Given the description of an element on the screen output the (x, y) to click on. 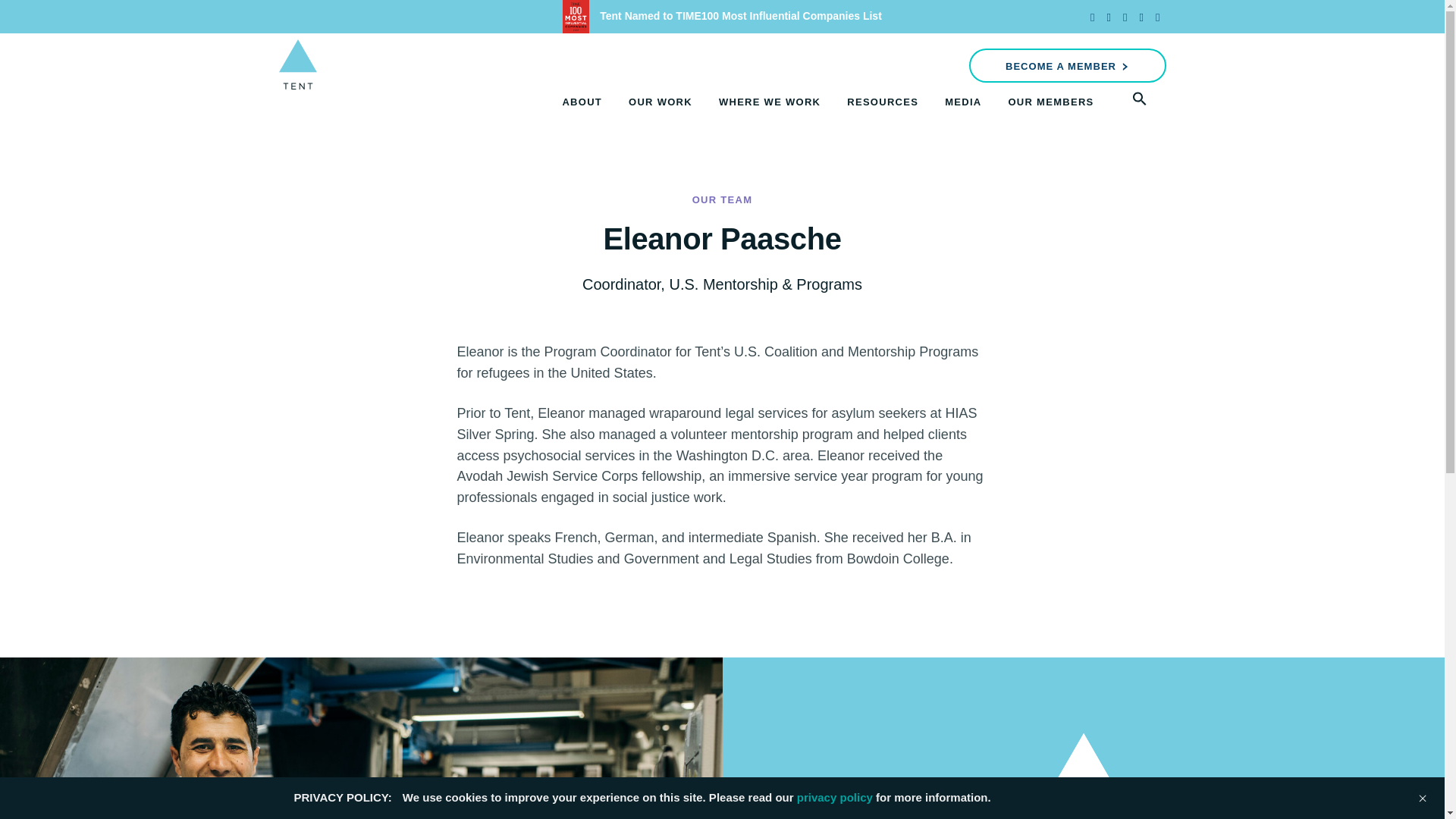
ABOUT (582, 101)
WHERE WE WORK (770, 101)
OUR WORK (660, 101)
 Tent Named to TIME100 Most Influential Companies List (722, 15)
BECOME A MEMBER (1067, 65)
